Given the description of an element on the screen output the (x, y) to click on. 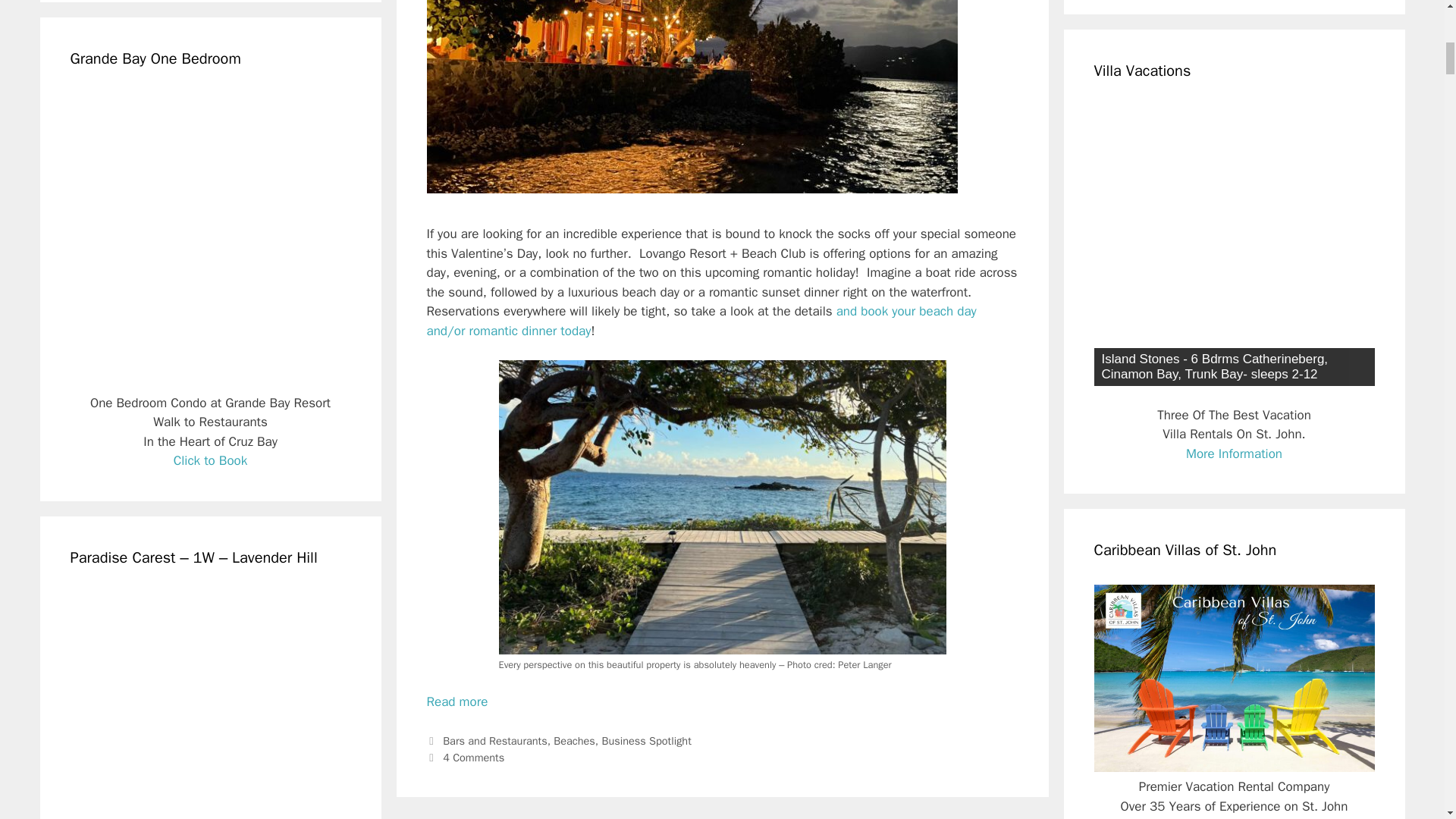
4 Comments (472, 757)
Business Spotlight (646, 740)
Beaches (574, 740)
Bars and Restaurants (494, 740)
